Given the description of an element on the screen output the (x, y) to click on. 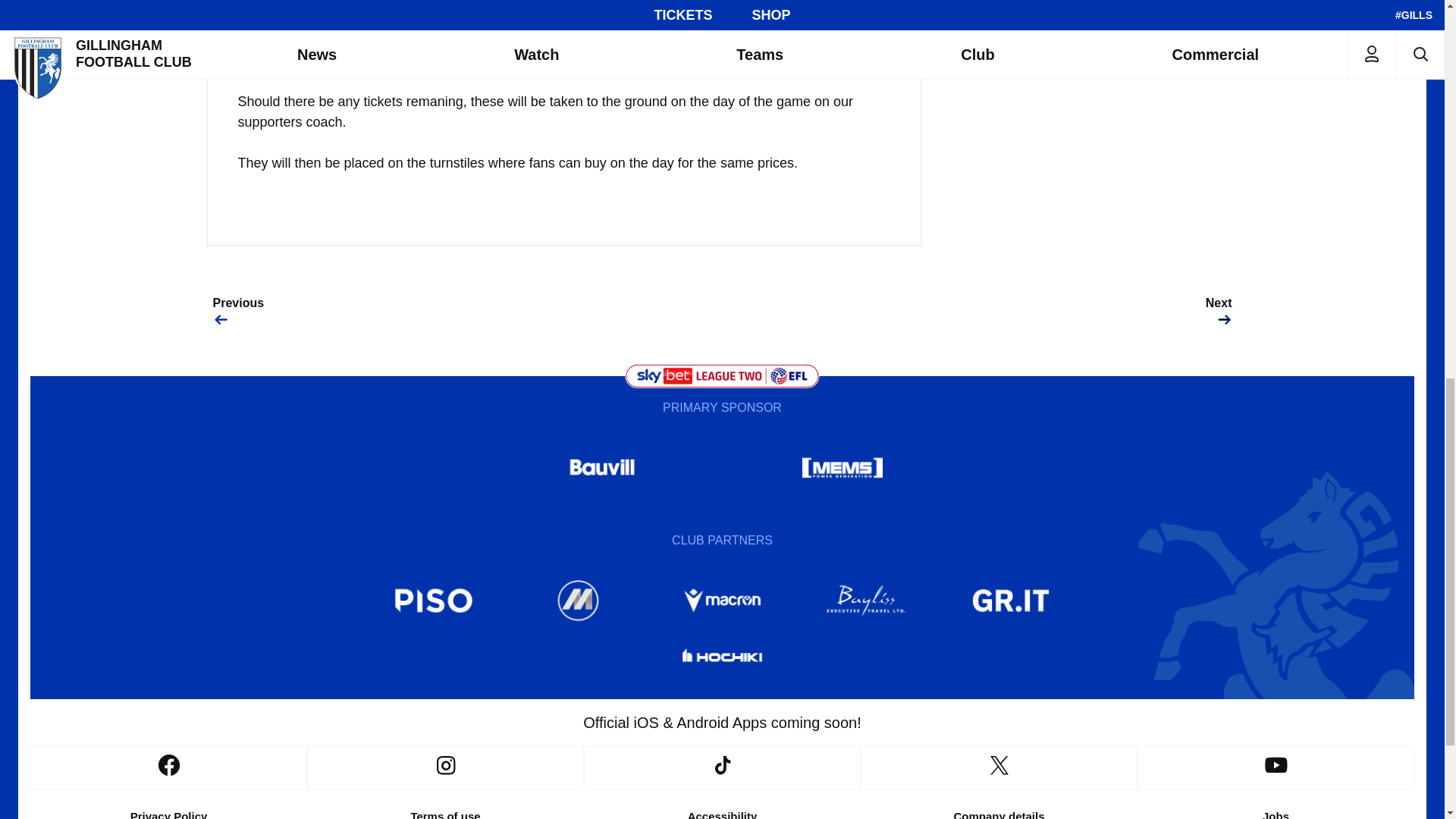
Bayliss (866, 600)
Bauvill (601, 467)
Magnus Search Recruitment (577, 600)
MEMS Power Generation (841, 467)
GRIT (1010, 600)
Macron (720, 600)
Hochiki (720, 657)
PISO (433, 600)
